Given the description of an element on the screen output the (x, y) to click on. 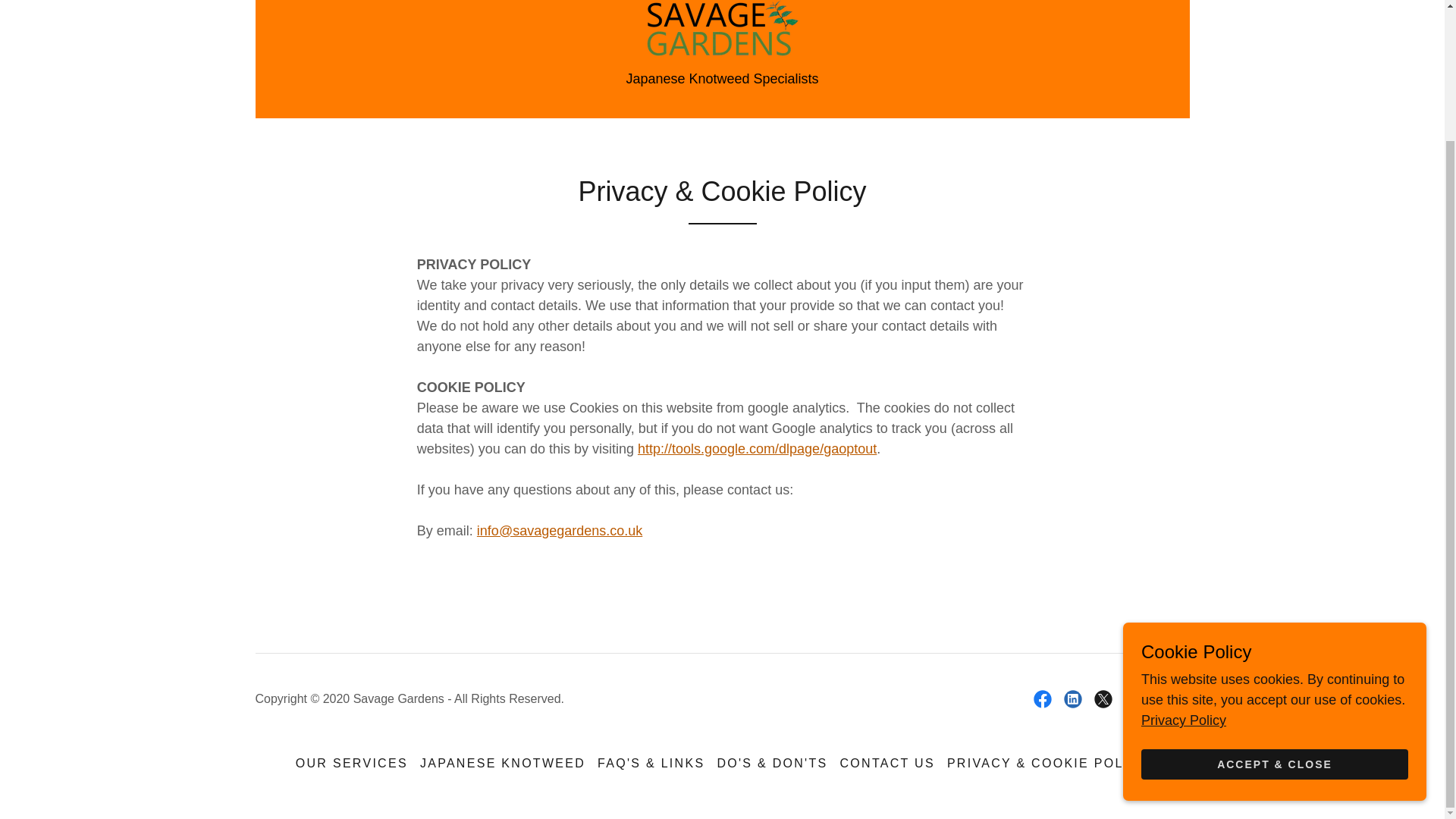
Privacy Policy (1183, 560)
CONTACT US (886, 763)
SAVAGE GARDENS (721, 27)
OUR SERVICES (351, 763)
JAPANESE KNOTWEED (502, 763)
